Given the description of an element on the screen output the (x, y) to click on. 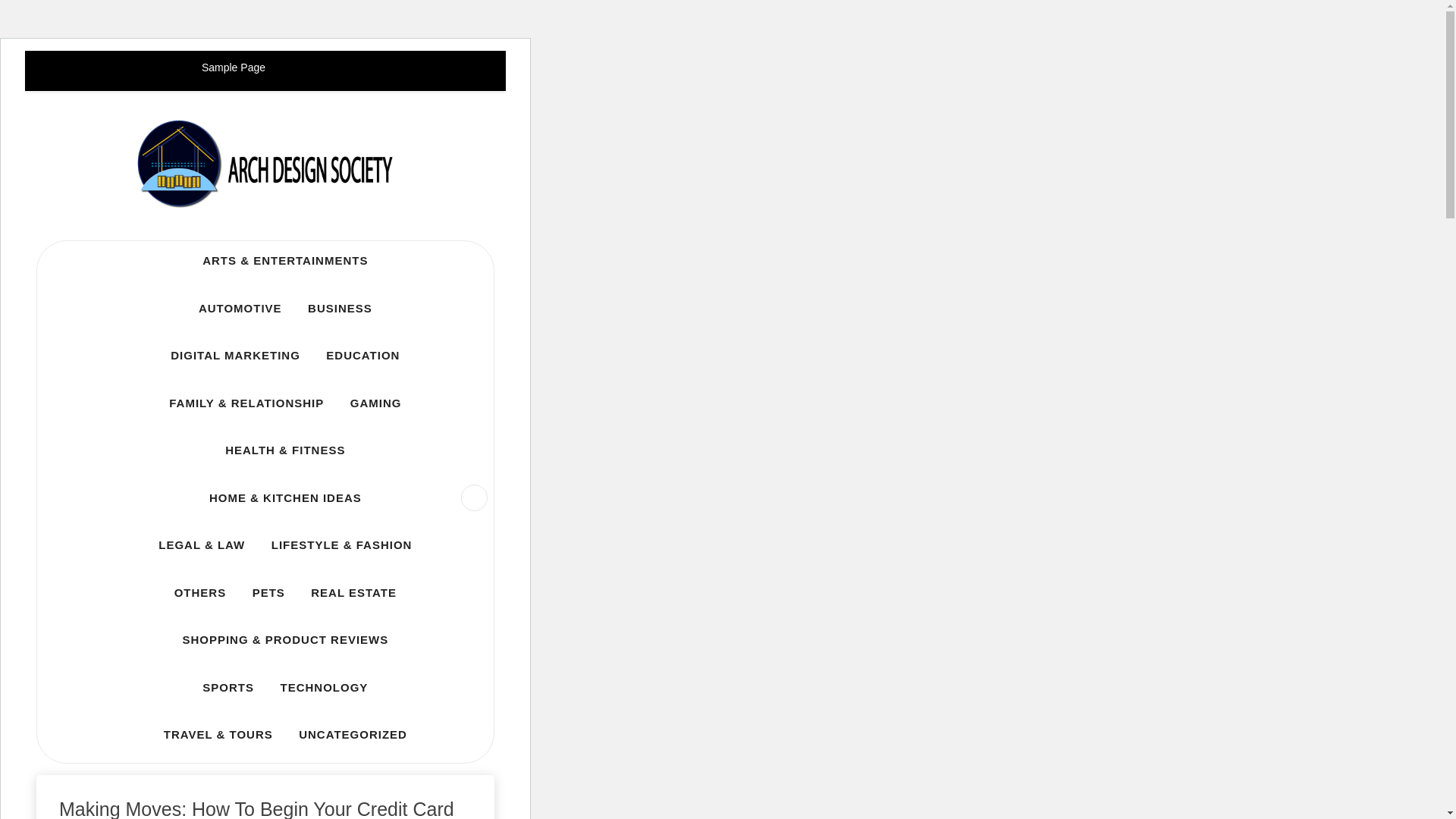
TECHNOLOGY (322, 687)
REAL ESTATE (353, 593)
OTHERS (200, 593)
Search (40, 18)
SPORTS (227, 687)
BUSINESS (340, 308)
UNCATEGORIZED (352, 734)
EDUCATION (362, 355)
Sample Page (233, 67)
AUTOMOTIVE (240, 308)
PETS (269, 593)
DIGITAL MARKETING (234, 355)
GAMING (376, 404)
